Given the description of an element on the screen output the (x, y) to click on. 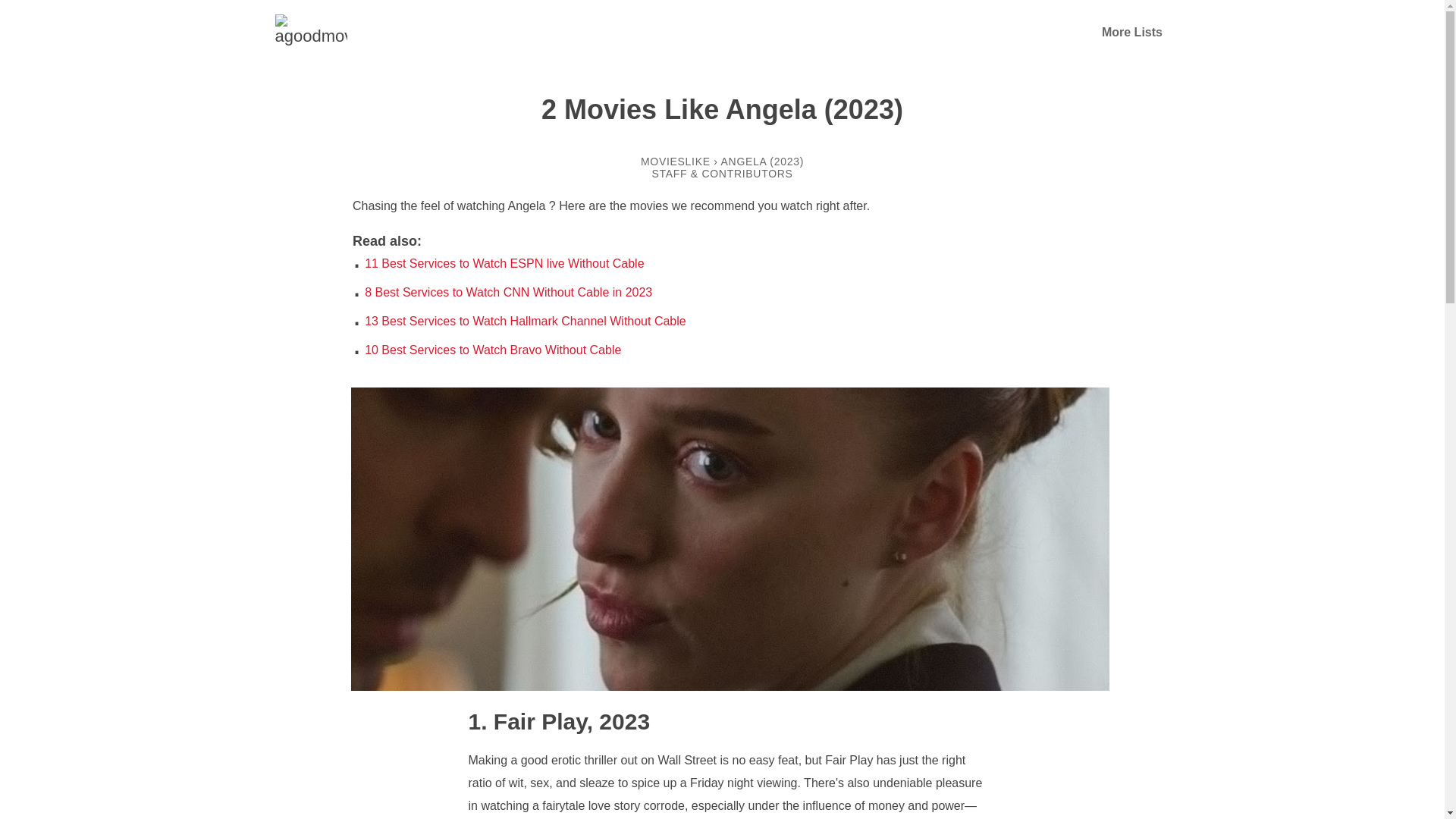
Fair Play (527, 721)
More Lists (1132, 32)
